Given the description of an element on the screen output the (x, y) to click on. 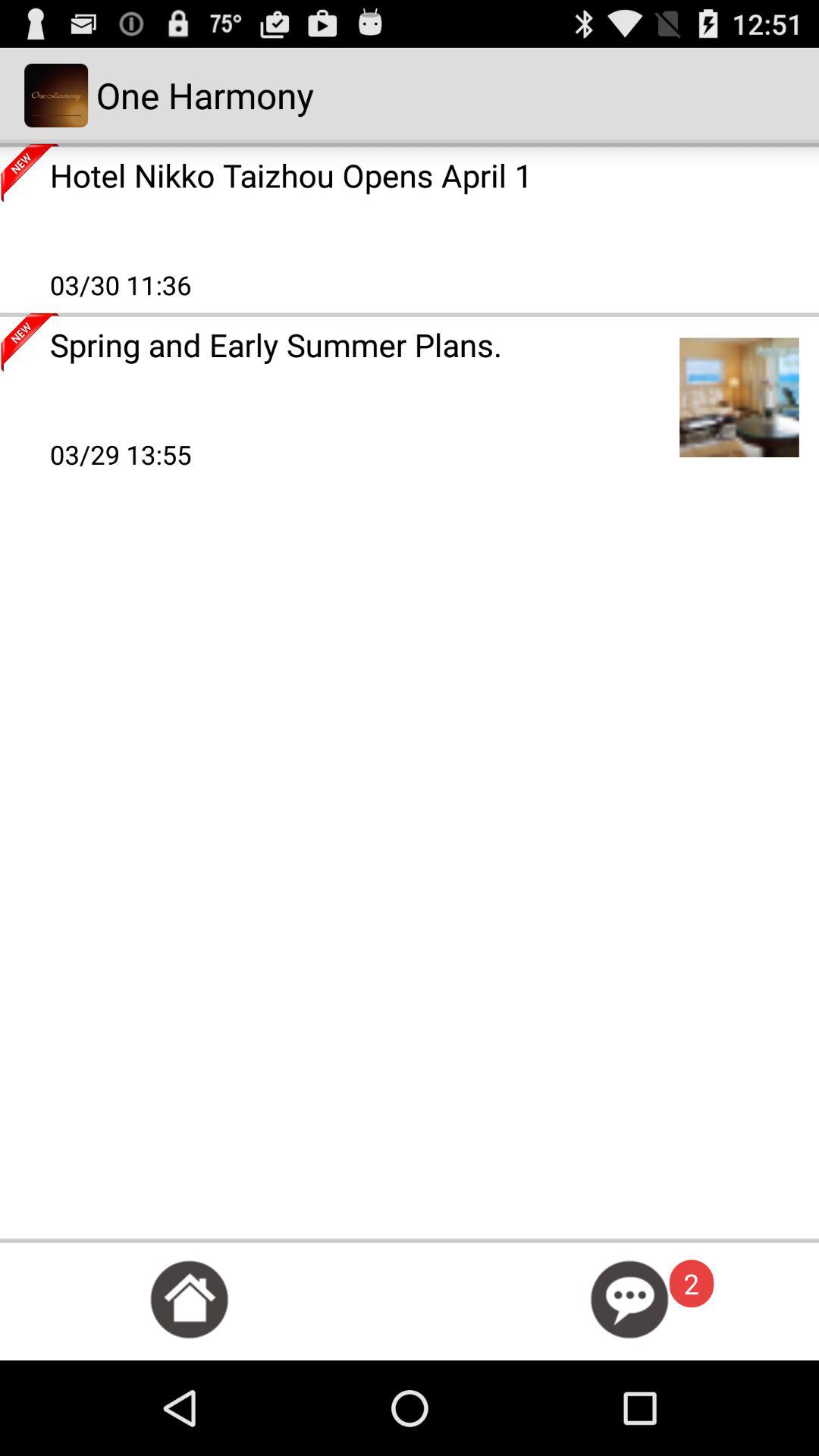
open item to the left of the 2 icon (629, 1299)
